Given the description of an element on the screen output the (x, y) to click on. 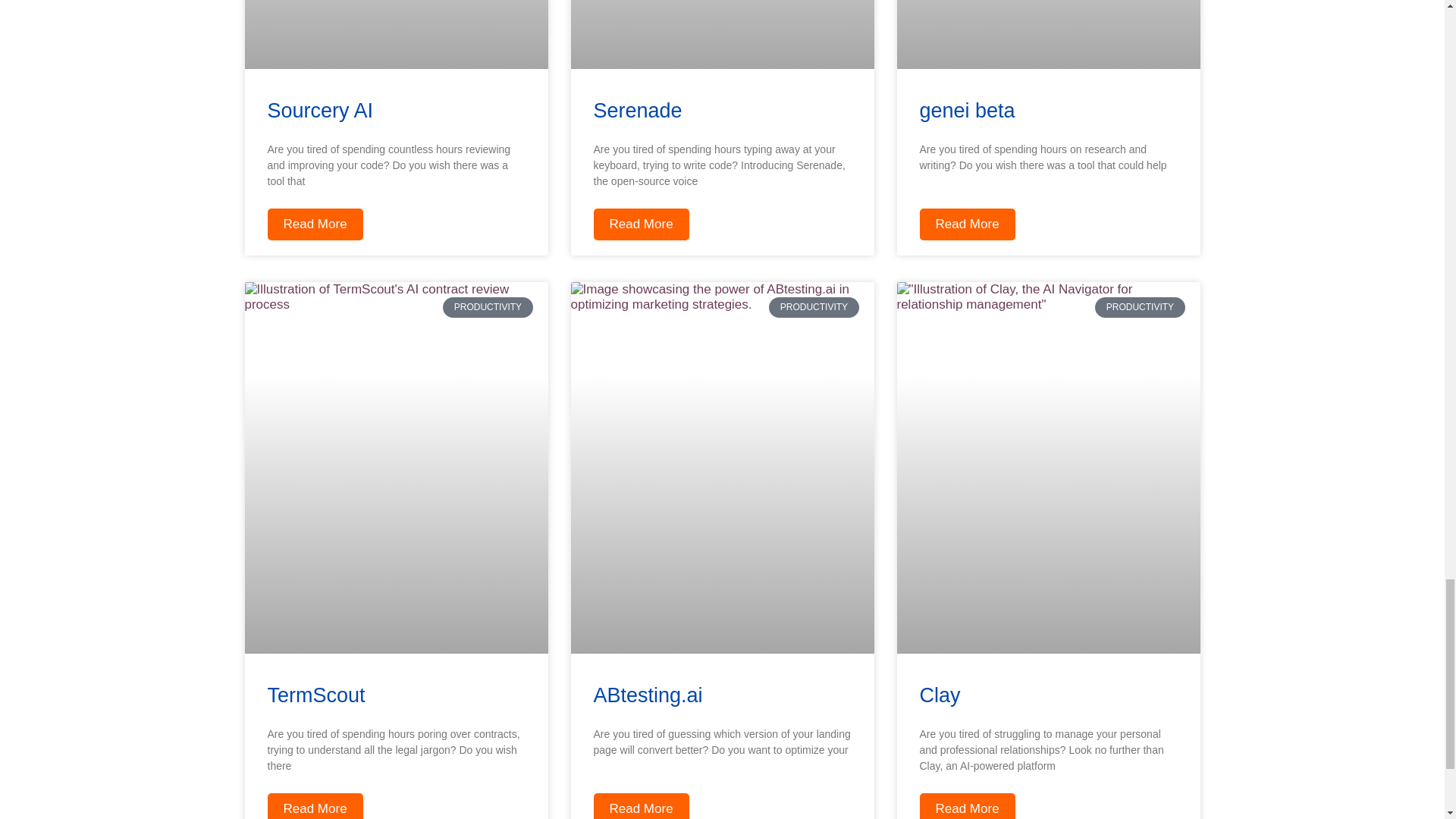
Clay (938, 694)
Sourcery AI (319, 110)
Read More (966, 224)
TermScout (315, 694)
Read More (314, 806)
ABtesting.ai (646, 694)
genei beta (966, 110)
Read More (640, 224)
Read More (966, 806)
Serenade (636, 110)
Read More (314, 224)
Read More (640, 806)
